Given the description of an element on the screen output the (x, y) to click on. 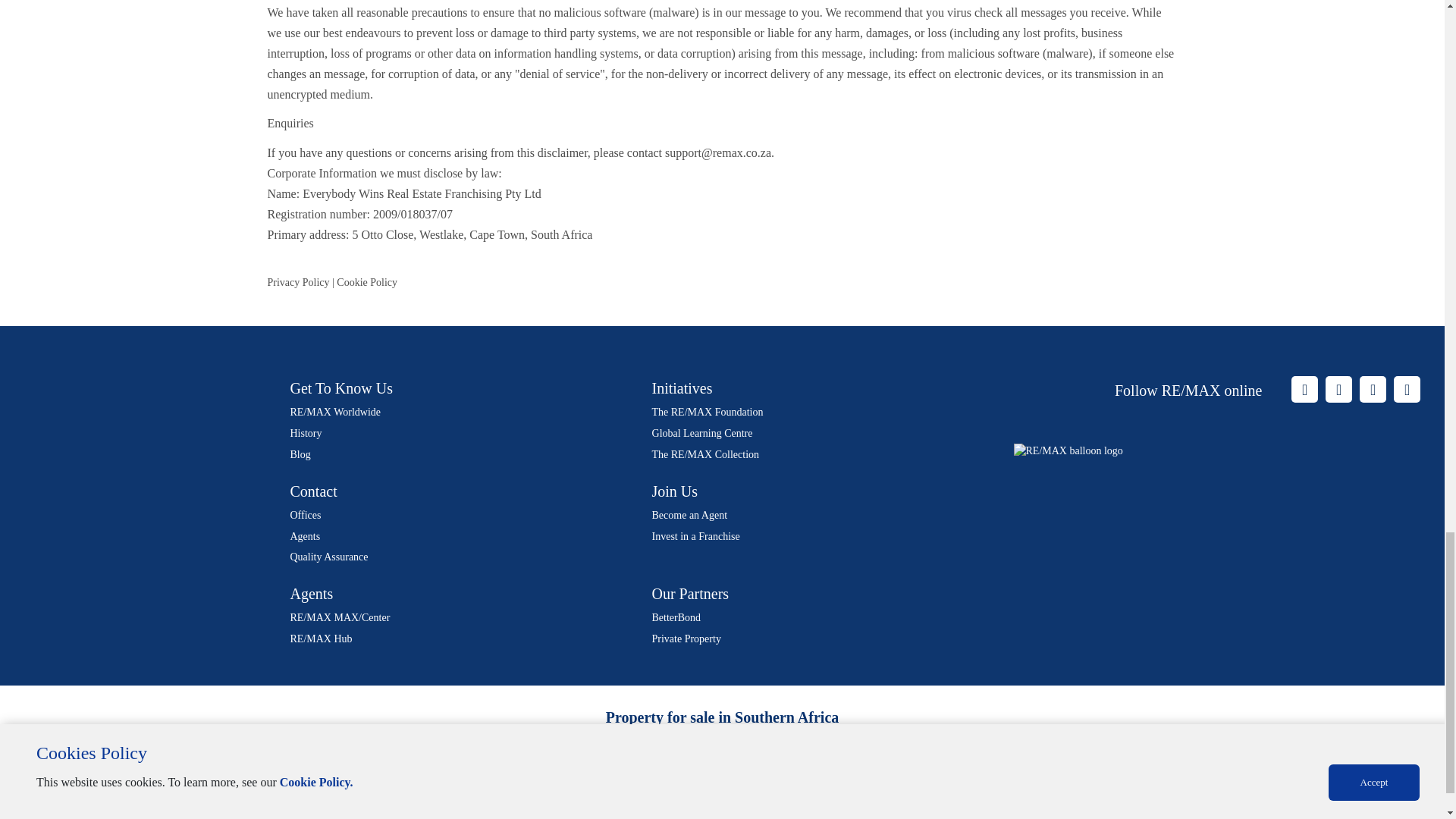
Offices (304, 514)
Agents (304, 536)
Blog (299, 454)
Cookie Policy (366, 282)
Privacy Policy (297, 282)
Quality Assurance (328, 556)
History (305, 432)
Become an Agent (690, 514)
Global Learning Centre (702, 432)
